Given the description of an element on the screen output the (x, y) to click on. 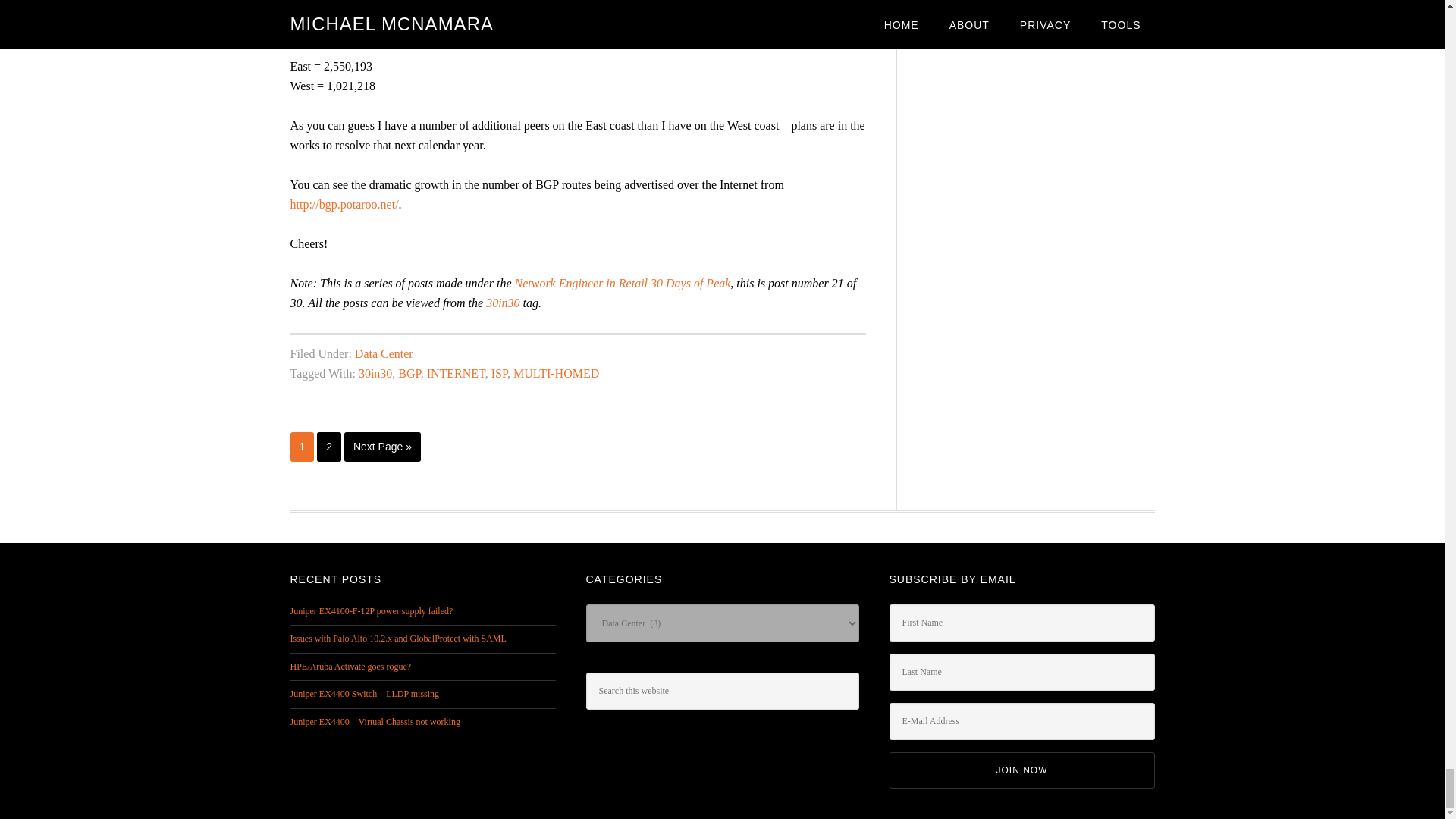
Join Now (1021, 770)
